Given the description of an element on the screen output the (x, y) to click on. 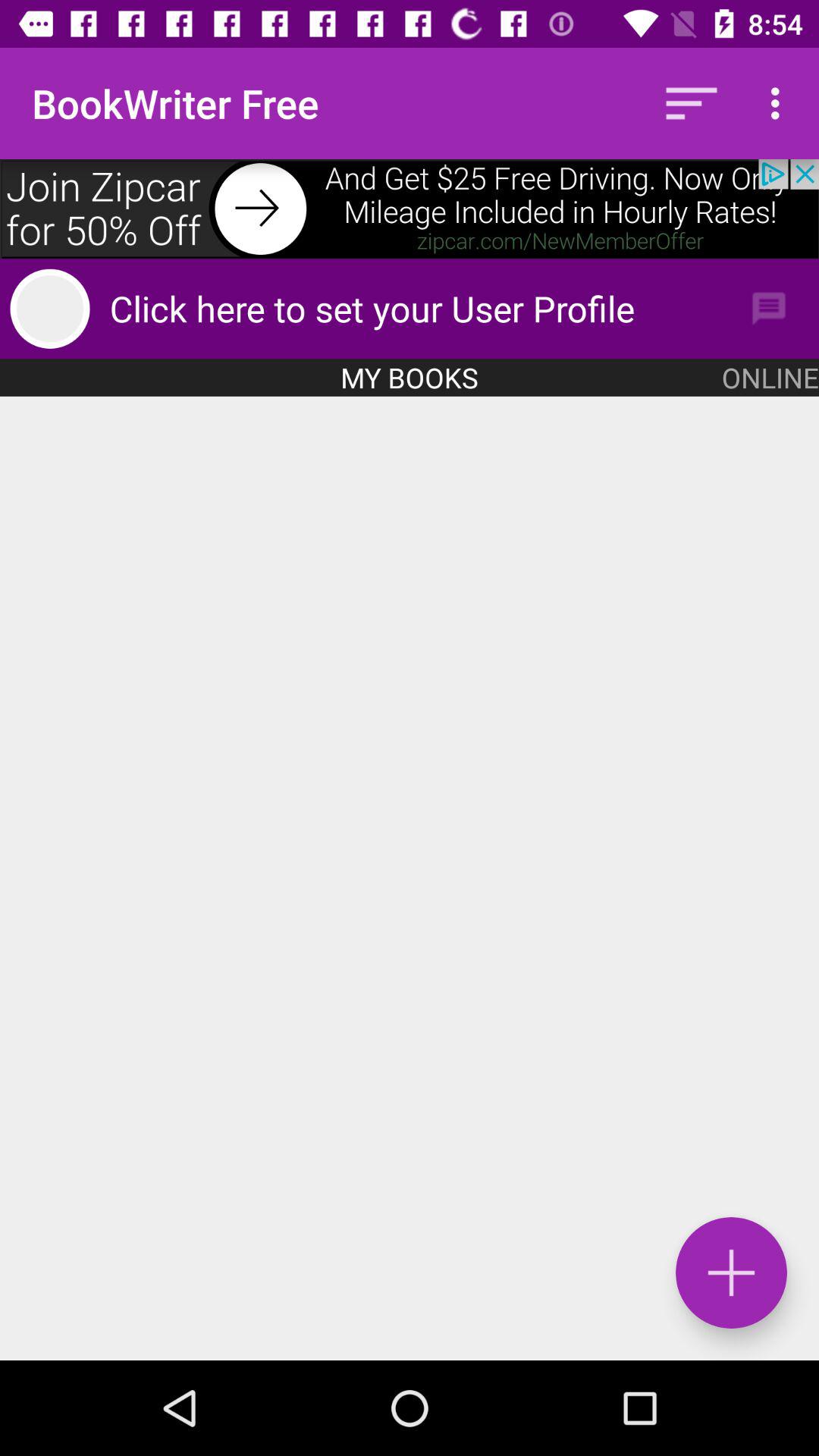
create new book (409, 878)
